Given the description of an element on the screen output the (x, y) to click on. 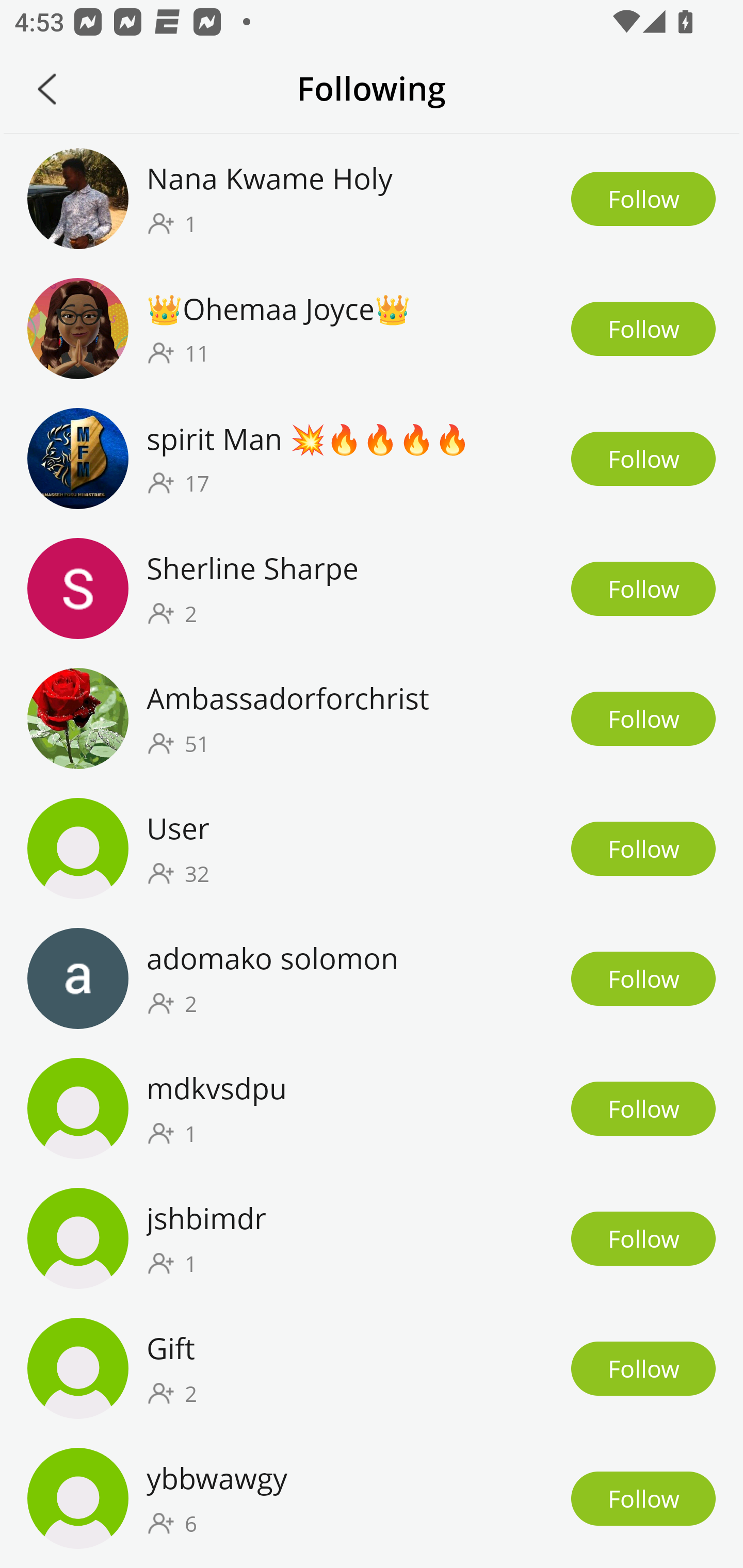
Back (46, 88)
Nana Kwame Holy 1 Follow (371, 198)
Follow (643, 198)
👑Ohemaa Joyce👑 11 Follow (371, 328)
Follow (643, 328)
spirit Man 💥🔥🔥🔥🔥 17 Follow (371, 458)
Follow (643, 458)
Sherline Sharpe 2 Follow (371, 588)
Follow (643, 588)
Ambassadorforchrist 51 Follow (371, 718)
Follow (643, 718)
User 32 Follow (371, 849)
Follow (643, 848)
adomako solomon 2 Follow (371, 978)
Follow (643, 978)
mdkvsdpu 1 Follow (371, 1107)
Follow (643, 1108)
jshbimdr 1 Follow (371, 1237)
Follow (643, 1238)
Gift 2 Follow (371, 1368)
Follow (643, 1368)
ybbwawgy 6 Follow (371, 1498)
Follow (643, 1497)
